Given the description of an element on the screen output the (x, y) to click on. 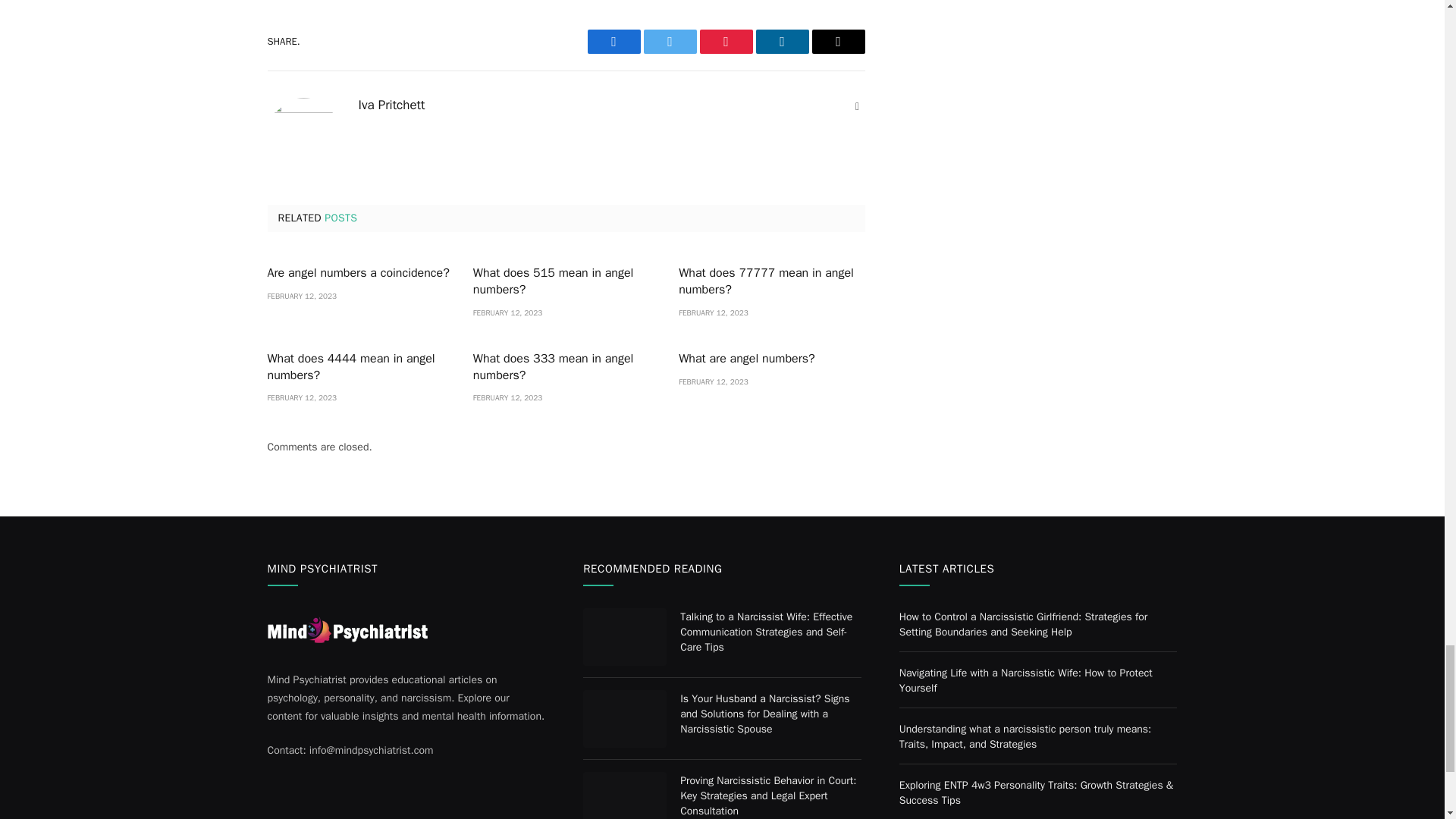
Twitter (669, 41)
Pinterest (725, 41)
LinkedIn (781, 41)
Facebook (613, 41)
